Given the description of an element on the screen output the (x, y) to click on. 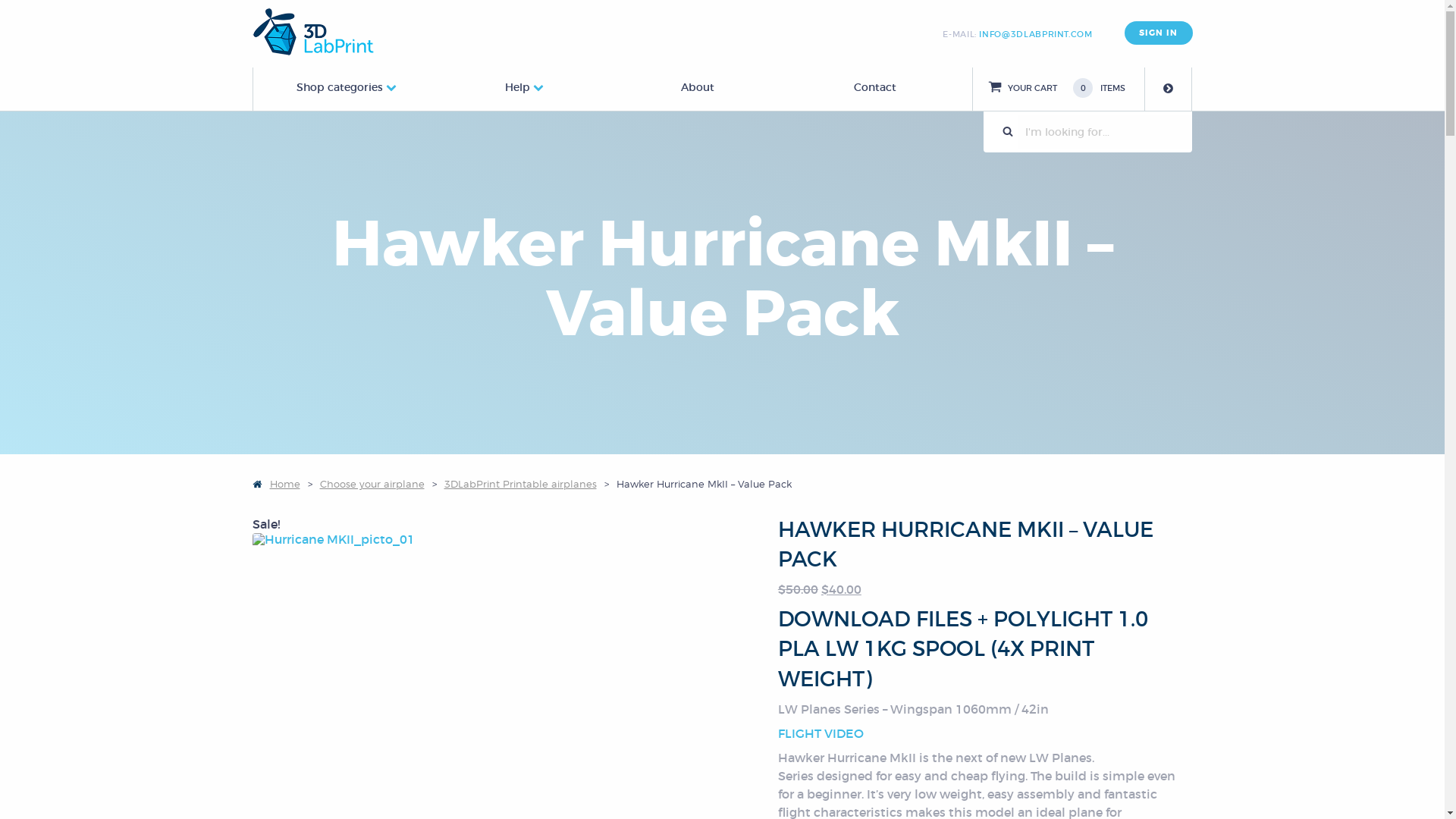
FLIGHT VIDEO Element type: text (820, 732)
Shop categories Element type: text (339, 86)
INFO@3DLABPRINT.COM Element type: text (1035, 33)
SIGN IN Element type: text (1158, 32)
Home Element type: text (275, 483)
YOUR CART 0 ITEMS Element type: text (1082, 87)
Contact Element type: text (874, 86)
Help Element type: text (517, 86)
Choose your airplane Element type: text (372, 483)
I'm looking for... Element type: hover (1104, 132)
3DLabPrint Printable airplanes Element type: text (520, 483)
3DLabPrint Element type: hover (312, 31)
About Element type: text (697, 86)
